Given the description of an element on the screen output the (x, y) to click on. 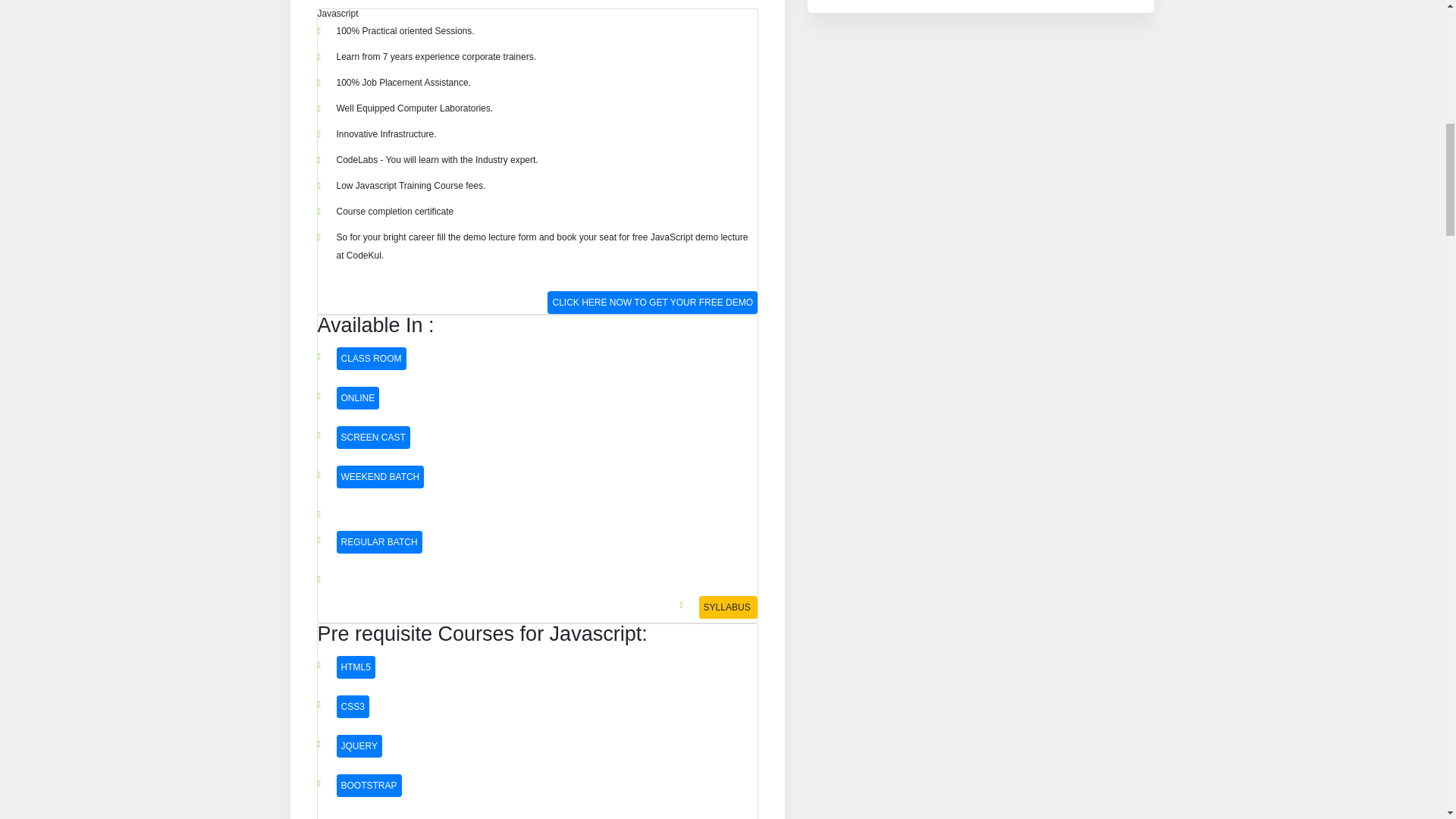
WEEKEND BATCH (380, 477)
SYLLABUS  (727, 607)
CLASS ROOM (371, 358)
ONLINE (358, 397)
JQUERY (358, 745)
SCREEN CAST (373, 436)
HTML5 (355, 667)
CSS3 (352, 706)
REGULAR BATCH (379, 541)
